Given the description of an element on the screen output the (x, y) to click on. 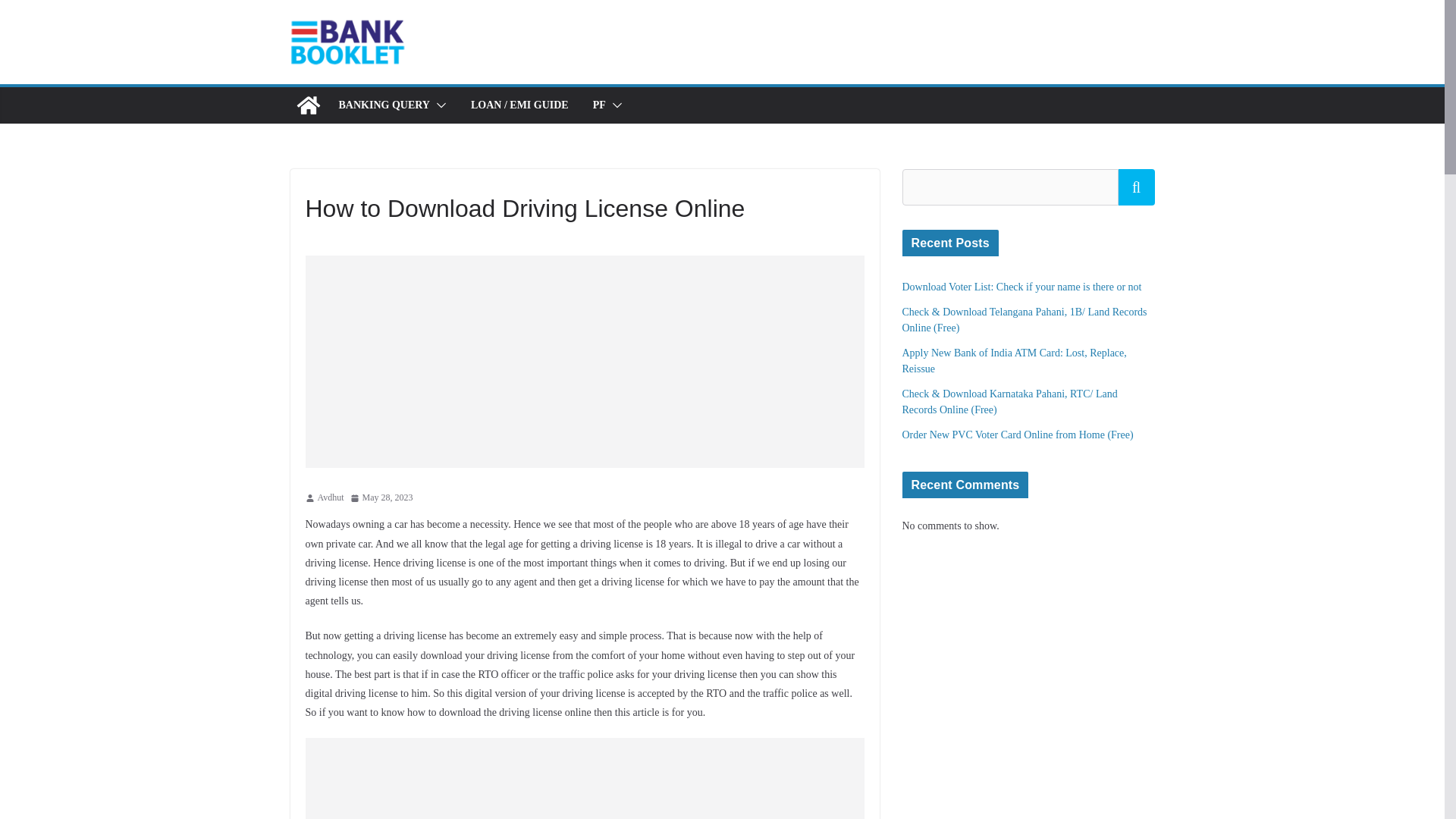
BANKING QUERY (383, 105)
Avdhut (330, 497)
Apply New Bank of India ATM Card: Lost, Replace, Reissue (1014, 360)
Download Voter List: Check if your name is there or not (1021, 286)
BankBooklet.com (307, 104)
Search (1136, 186)
4:56 pm (381, 497)
Avdhut (330, 497)
May 28, 2023 (381, 497)
